Given the description of an element on the screen output the (x, y) to click on. 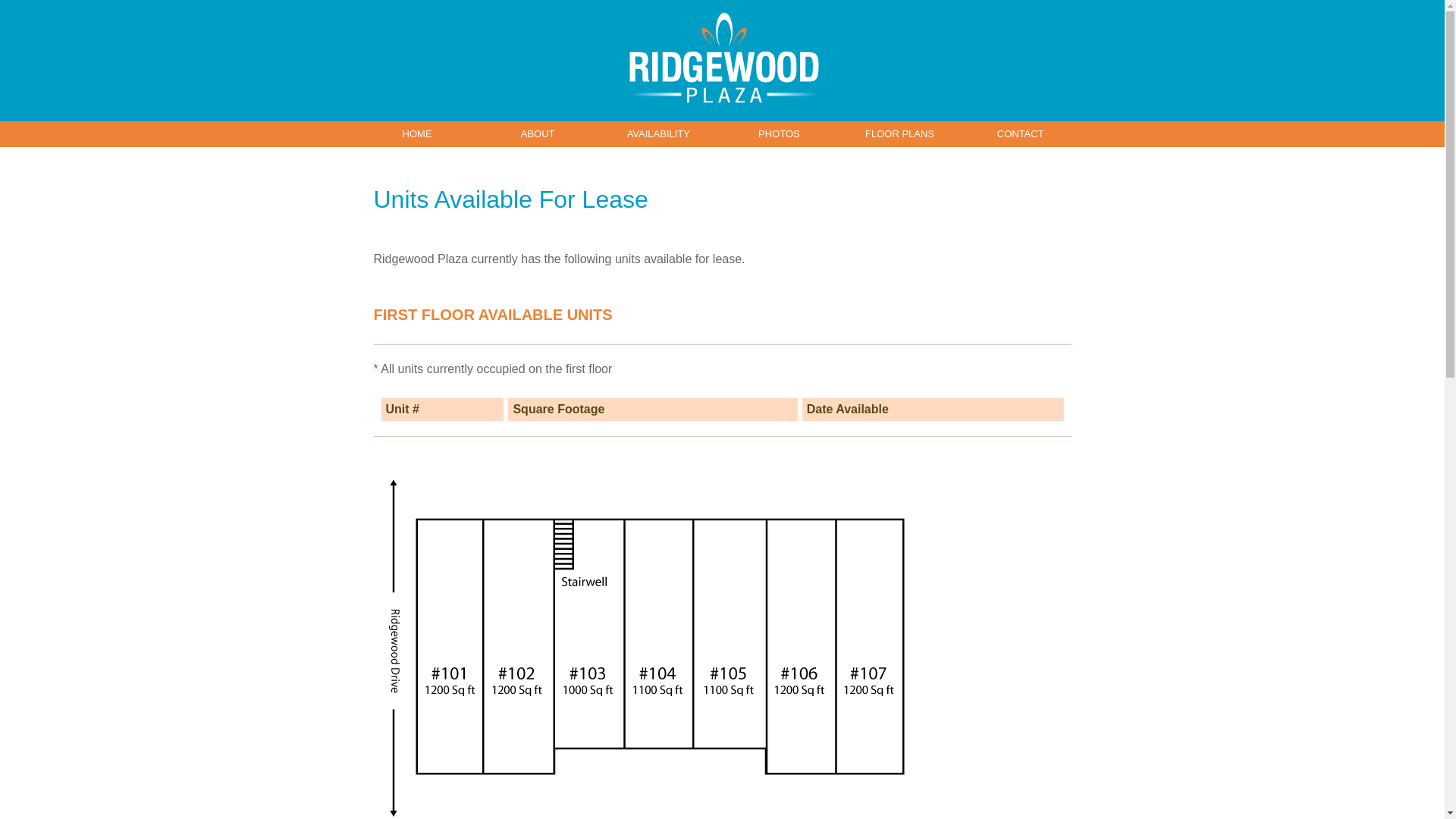
FLOOR PLANS Element type: text (899, 132)
AVAILABILITY Element type: text (658, 132)
ABOUT Element type: text (537, 132)
CONTACT Element type: text (1020, 132)
PHOTOS Element type: text (778, 132)
HOME Element type: text (416, 132)
